Given the description of an element on the screen output the (x, y) to click on. 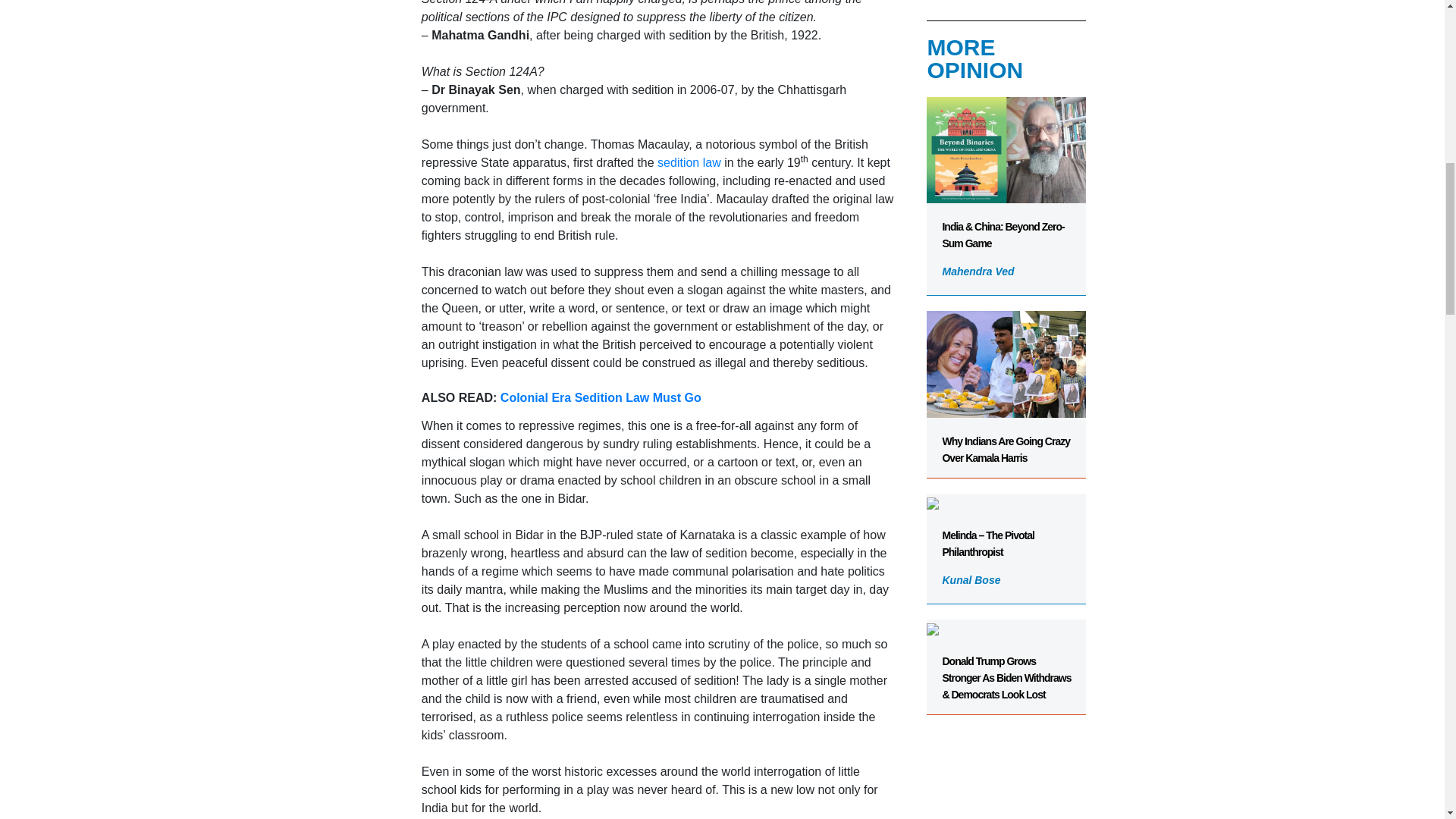
Colonial Era Sedition Law Must Go (600, 397)
sedition law (689, 162)
Why Indians Are Going Crazy Over Kamala Harris (1006, 386)
